Given the description of an element on the screen output the (x, y) to click on. 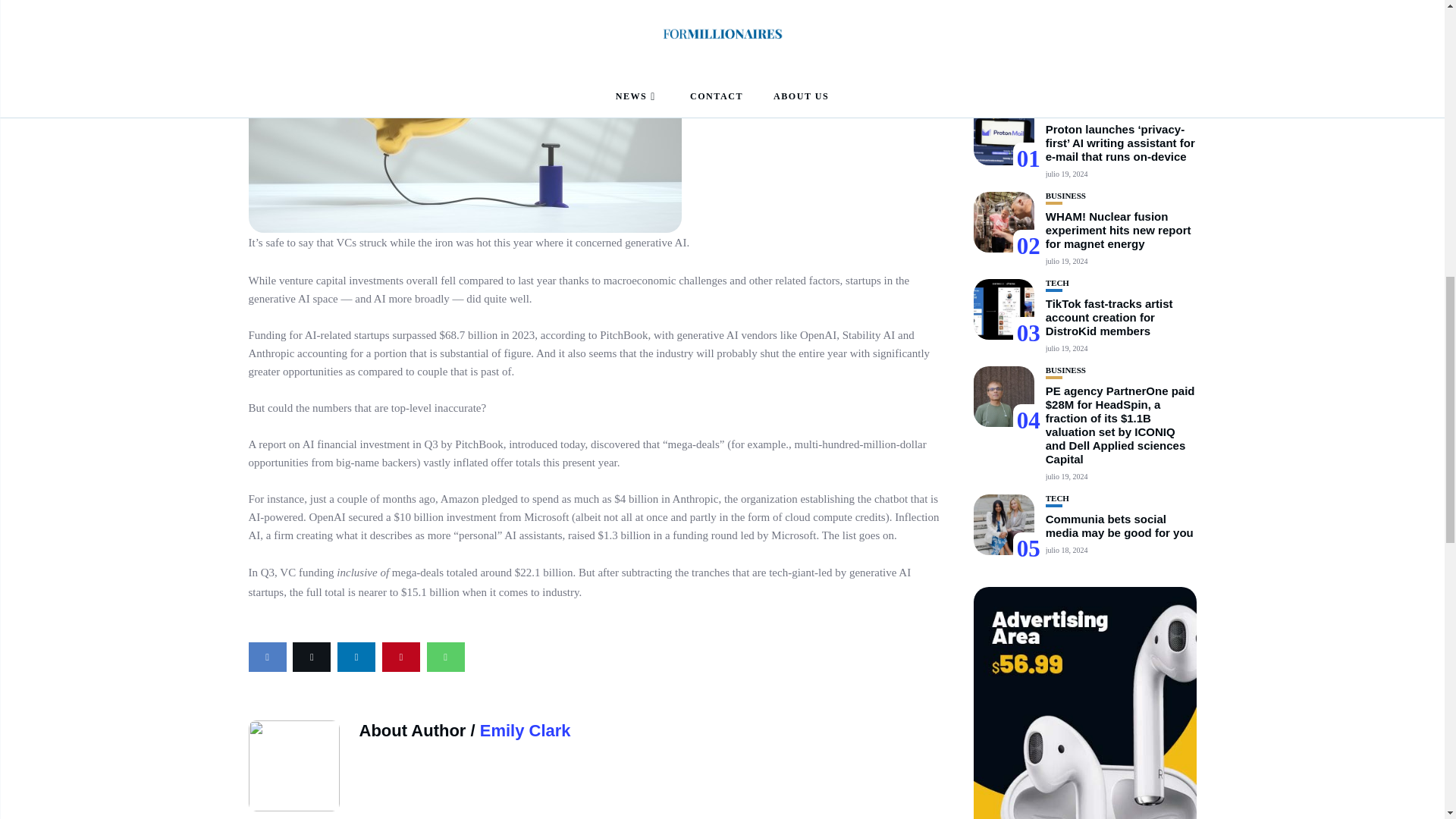
Entradas de Emily Clark (525, 730)
facebook (267, 656)
Emily Clark (525, 730)
Sign up (1027, 803)
